Given the description of an element on the screen output the (x, y) to click on. 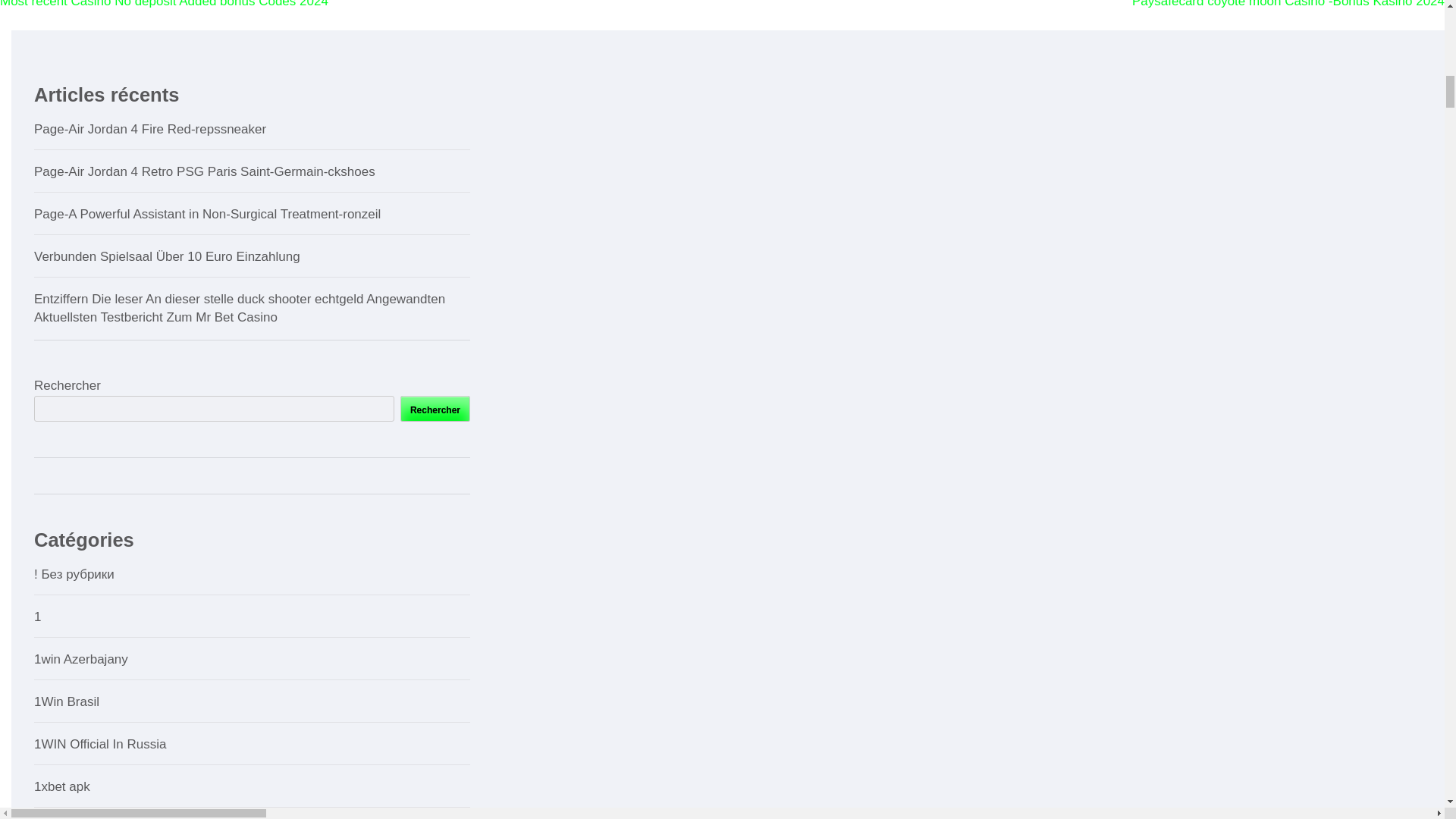
Paysafecard coyote moon Casino -Bonus Kasino 2024 (1288, 4)
Most recent Casino No deposit Added bonus Codes 2024 (164, 4)
Page-Air Jordan 4 Retro PSG Paris Saint-Germain-ckshoes (204, 171)
Page-A Powerful Assistant in Non-Surgical Treatment-ronzeil (206, 214)
Page-Air Jordan 4 Fire Red-repssneaker (149, 129)
Rechercher (435, 408)
